Given the description of an element on the screen output the (x, y) to click on. 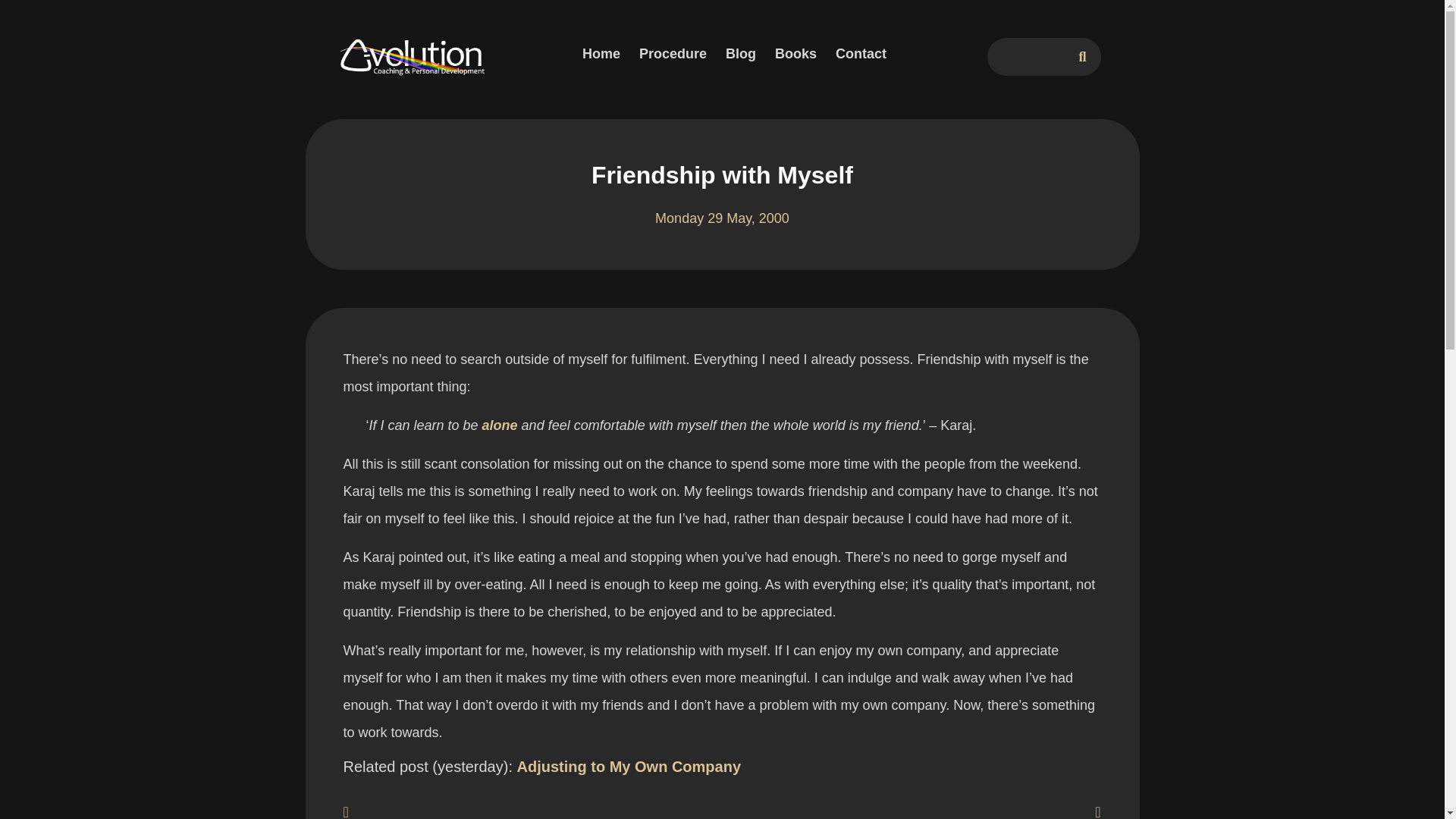
Books (795, 53)
Blog (740, 53)
Procedure (672, 53)
Home (601, 53)
Contact (860, 53)
